Given the description of an element on the screen output the (x, y) to click on. 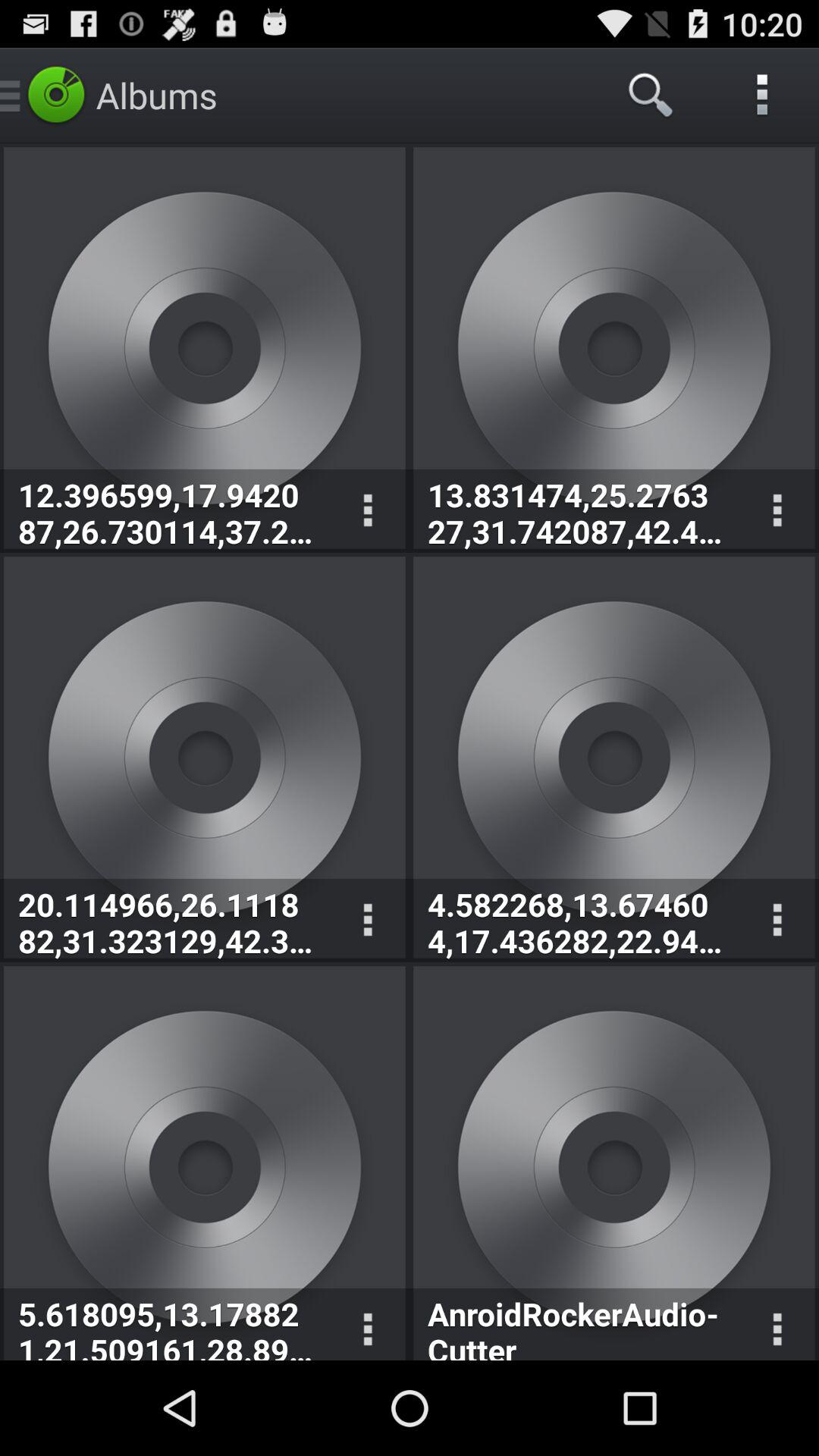
displays option menu for corresponding album (777, 510)
